Given the description of an element on the screen output the (x, y) to click on. 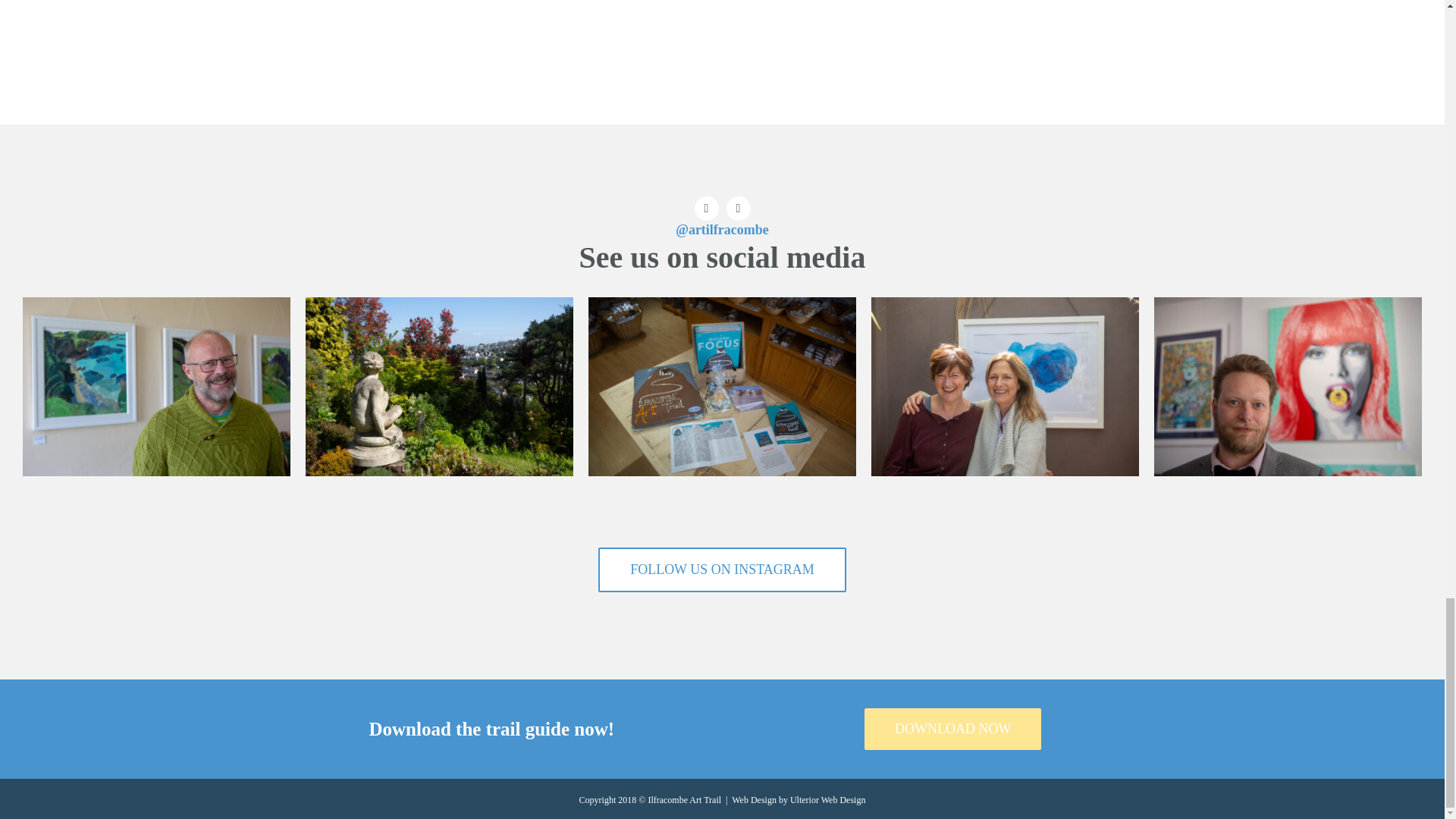
Ulterior Web Design (827, 799)
DOWNLOAD NOW (952, 729)
Carousel new 3 amended (1004, 386)
FOLLOW US ON INSTAGRAM (721, 569)
Carousel new 4 amended (722, 386)
Carousel new 2 amended (156, 386)
